Given the description of an element on the screen output the (x, y) to click on. 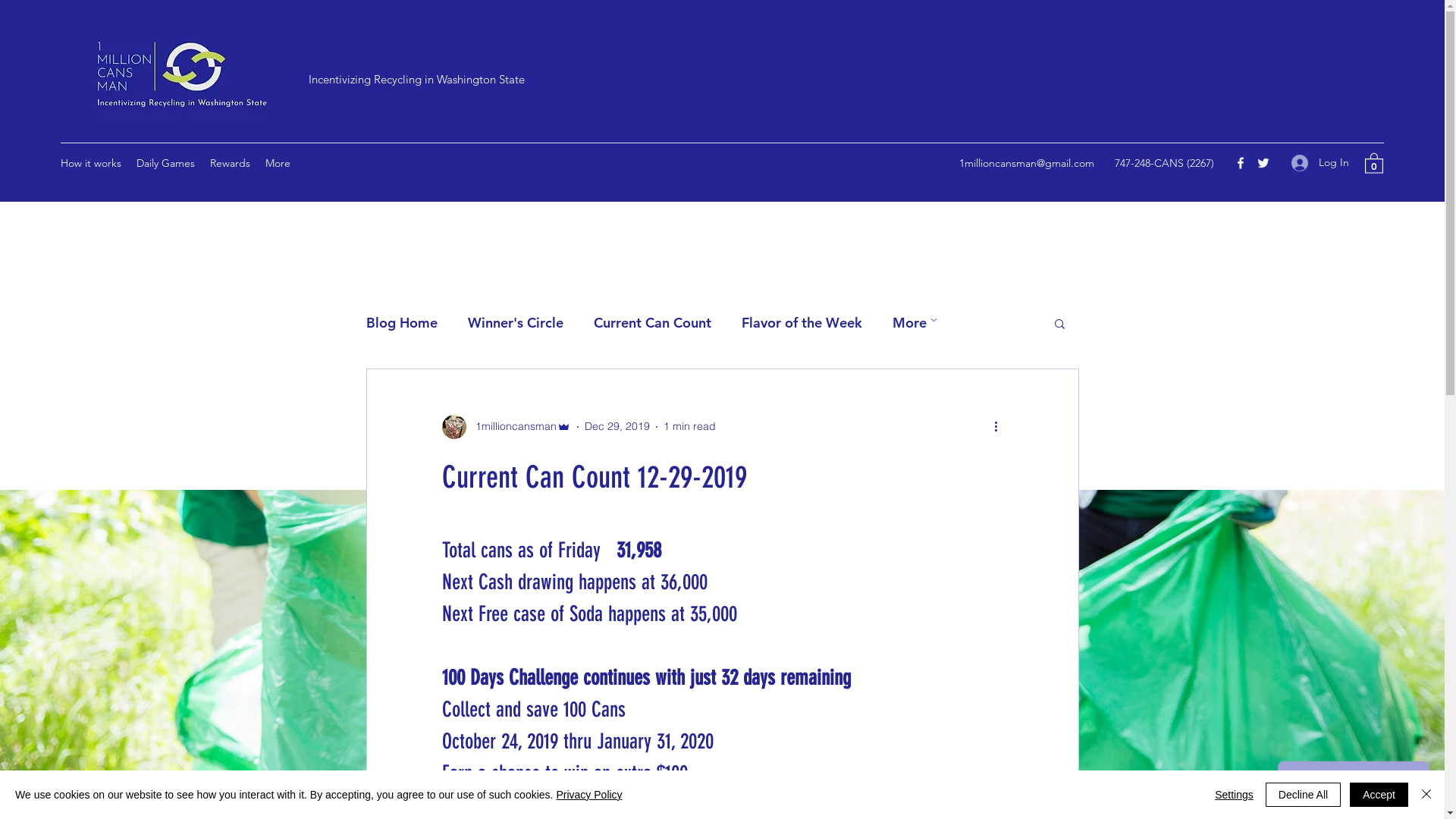
Log In Element type: text (1319, 162)
Winner's Circle Element type: text (514, 322)
Decline All Element type: text (1302, 794)
How it works Element type: text (90, 162)
Flavor of the Week Element type: text (801, 322)
Accept Element type: text (1378, 794)
Daily Games Element type: text (165, 162)
1millioncansman Element type: text (505, 426)
Rewards Element type: text (229, 162)
Current Can Count Element type: text (651, 322)
Privacy Policy Element type: text (588, 794)
Blog Home Element type: text (400, 322)
1millioncansman@gmail.com Element type: text (1026, 162)
0 Element type: text (1374, 162)
